Given the description of an element on the screen output the (x, y) to click on. 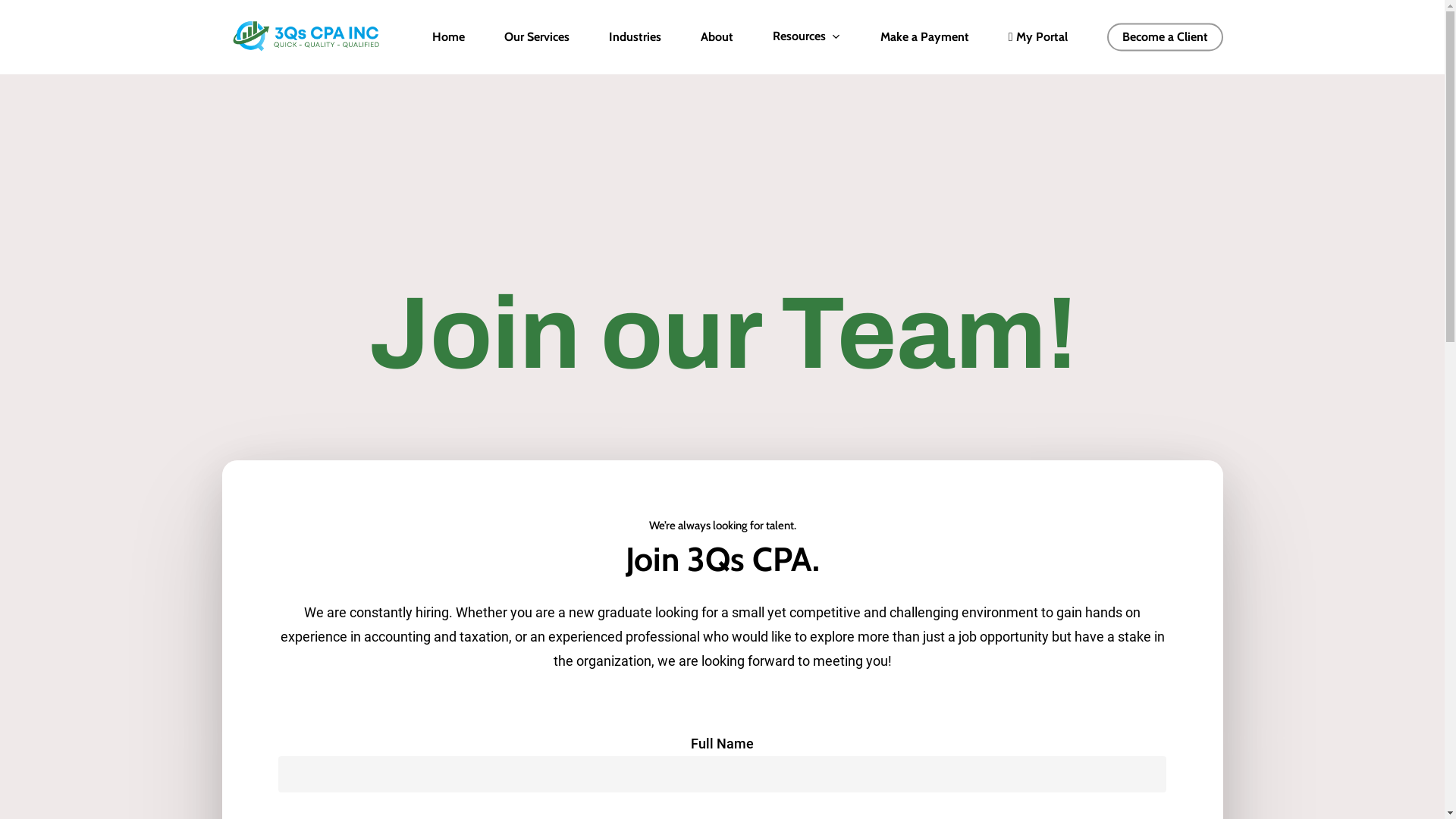
Home Element type: text (448, 37)
About Element type: text (716, 37)
Resources Element type: text (806, 36)
Make a Payment Element type: text (924, 37)
Become a Client Element type: text (1165, 37)
Our Services Element type: text (536, 37)
Industries Element type: text (634, 37)
